Given the description of an element on the screen output the (x, y) to click on. 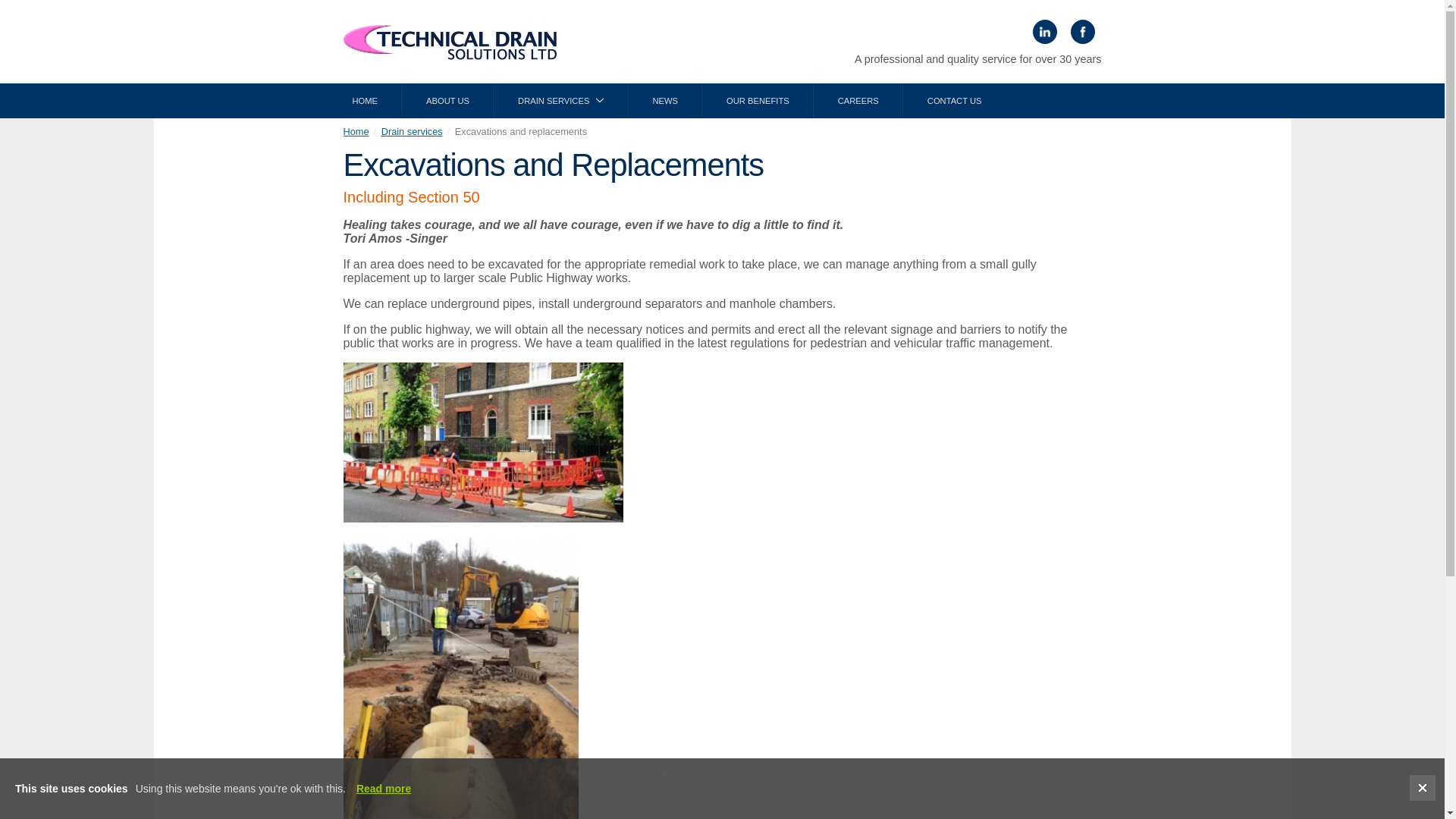
Drain services (411, 131)
OUR BENEFITS (757, 100)
ABOUT US (447, 100)
CONTACT US (954, 100)
CAREERS (857, 100)
Home (355, 131)
NEWS (664, 100)
DRAIN SERVICES (560, 100)
HOME (364, 100)
Street-dig  (482, 442)
